Given the description of an element on the screen output the (x, y) to click on. 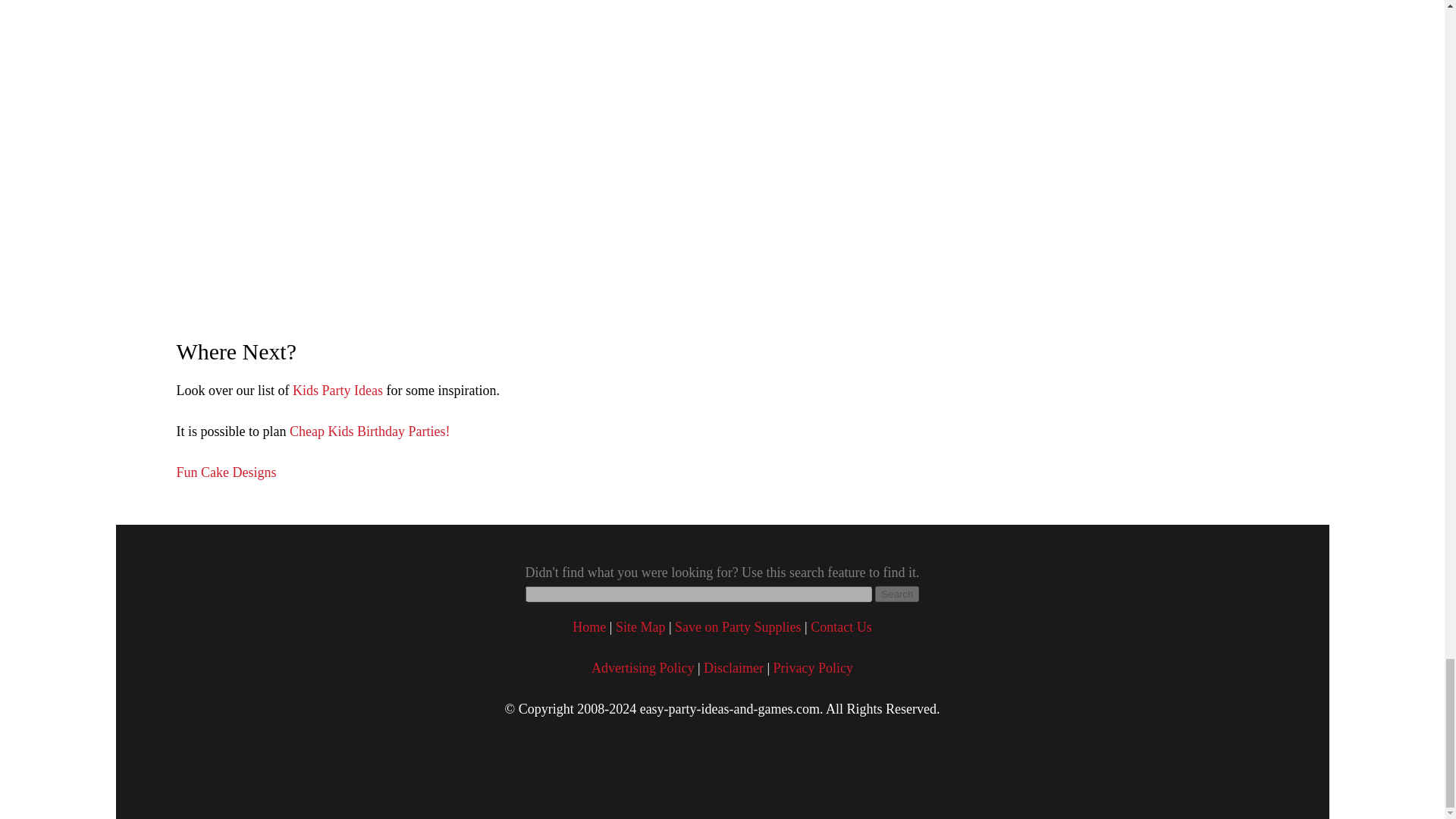
Search (896, 593)
